Given the description of an element on the screen output the (x, y) to click on. 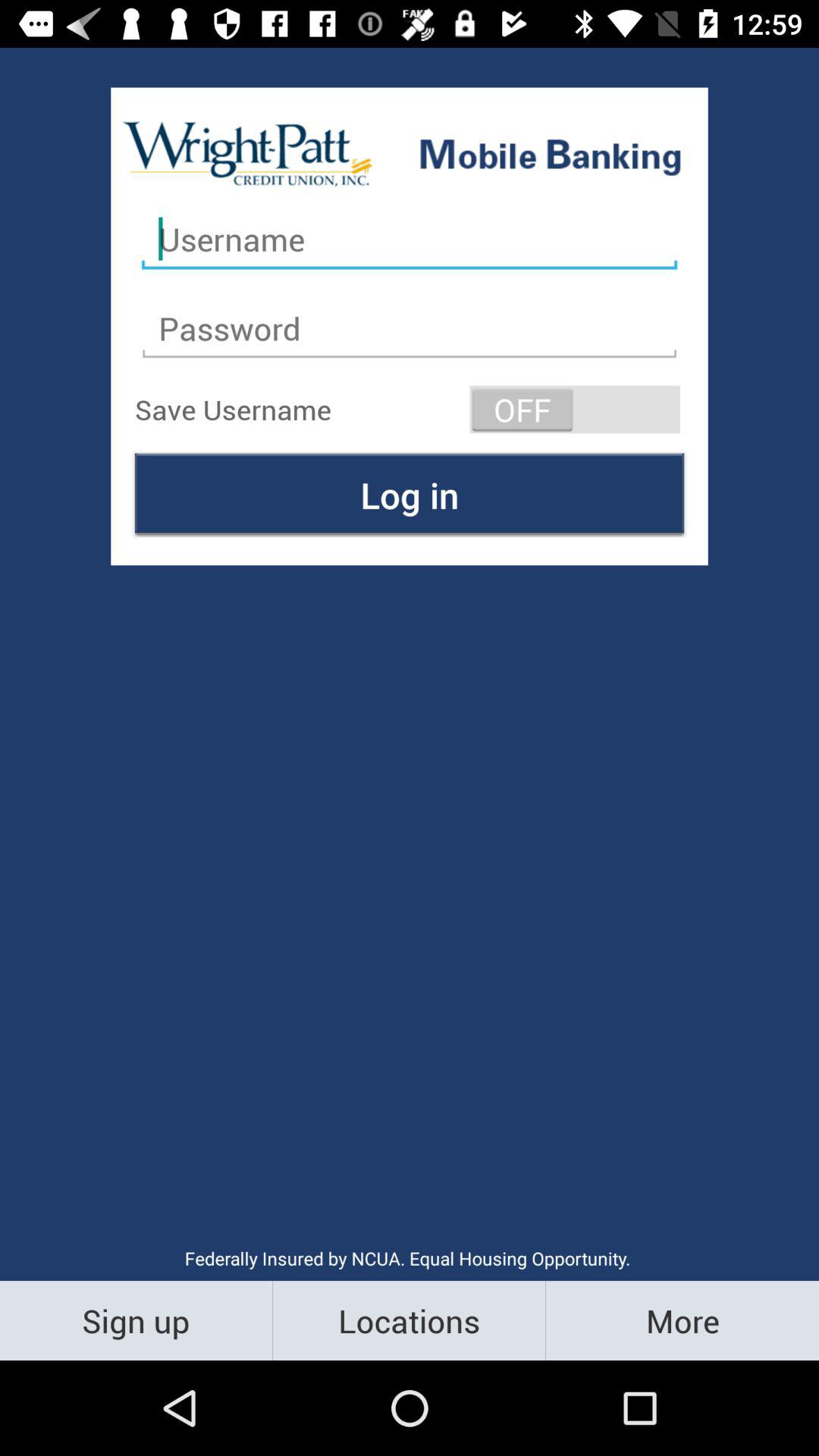
jump until log in item (409, 494)
